Given the description of an element on the screen output the (x, y) to click on. 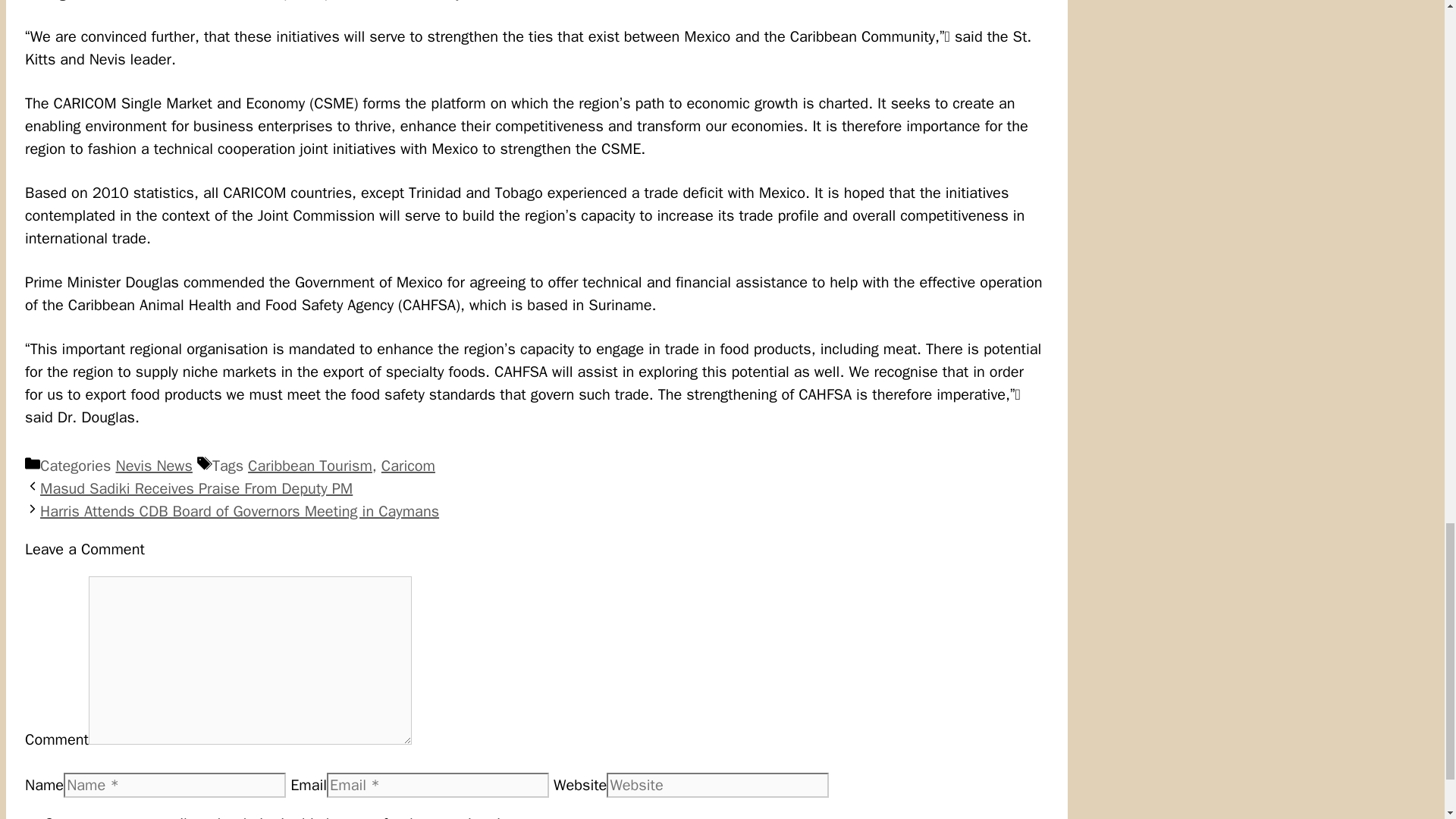
Caribbean Tourism (309, 465)
Nevis News (153, 465)
Harris Attends CDB Board of Governors Meeting in Caymans (239, 511)
Masud Sadiki Receives Praise From Deputy PM (196, 488)
Caricom (408, 465)
